Given the description of an element on the screen output the (x, y) to click on. 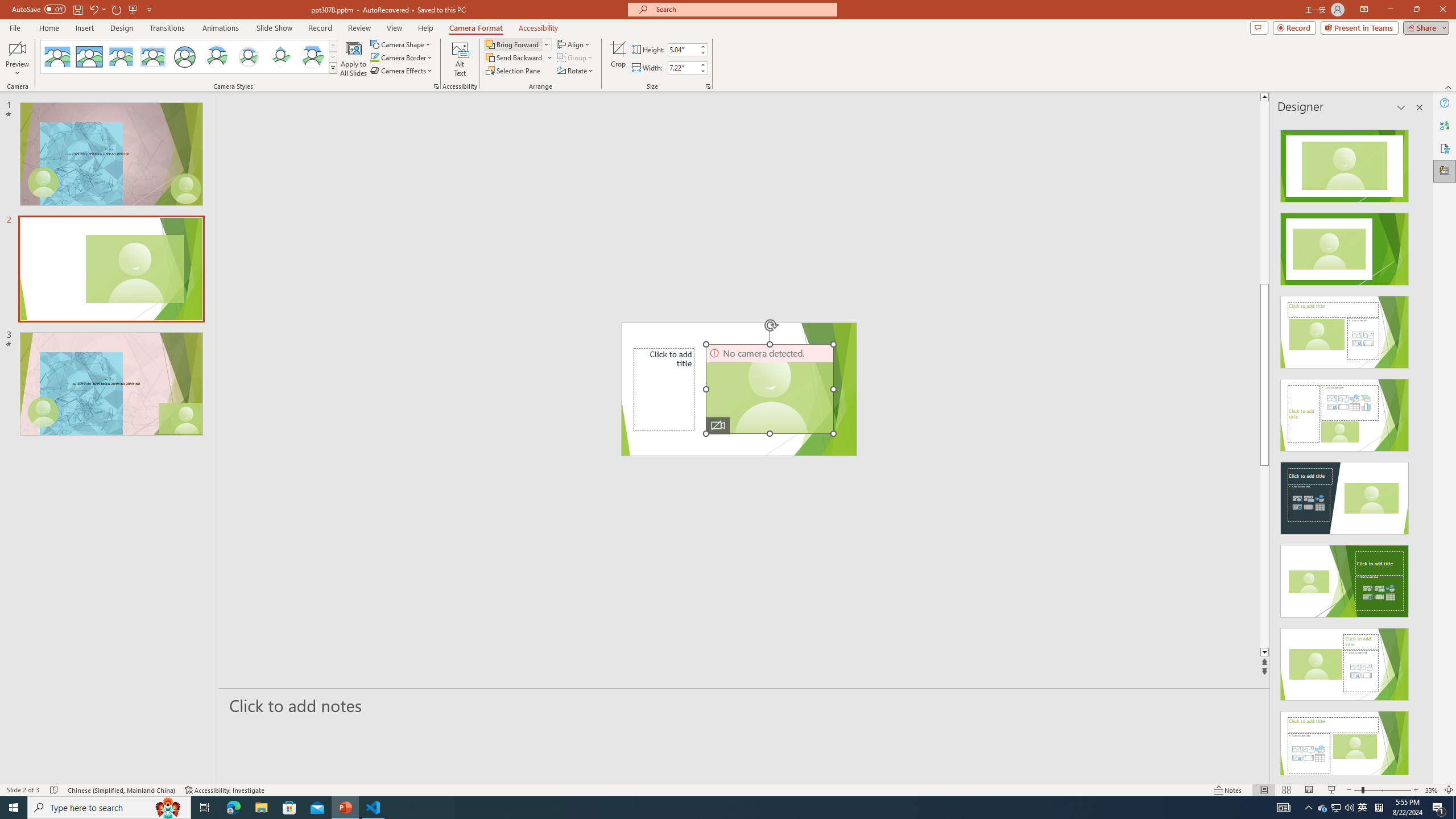
Center Shadow Rectangle (120, 56)
Send Backward (518, 56)
Camera 3, No camera detected. (769, 388)
Camera Styles (333, 67)
Center Shadow Diamond (280, 56)
Selection Pane... (513, 69)
